Given the description of an element on the screen output the (x, y) to click on. 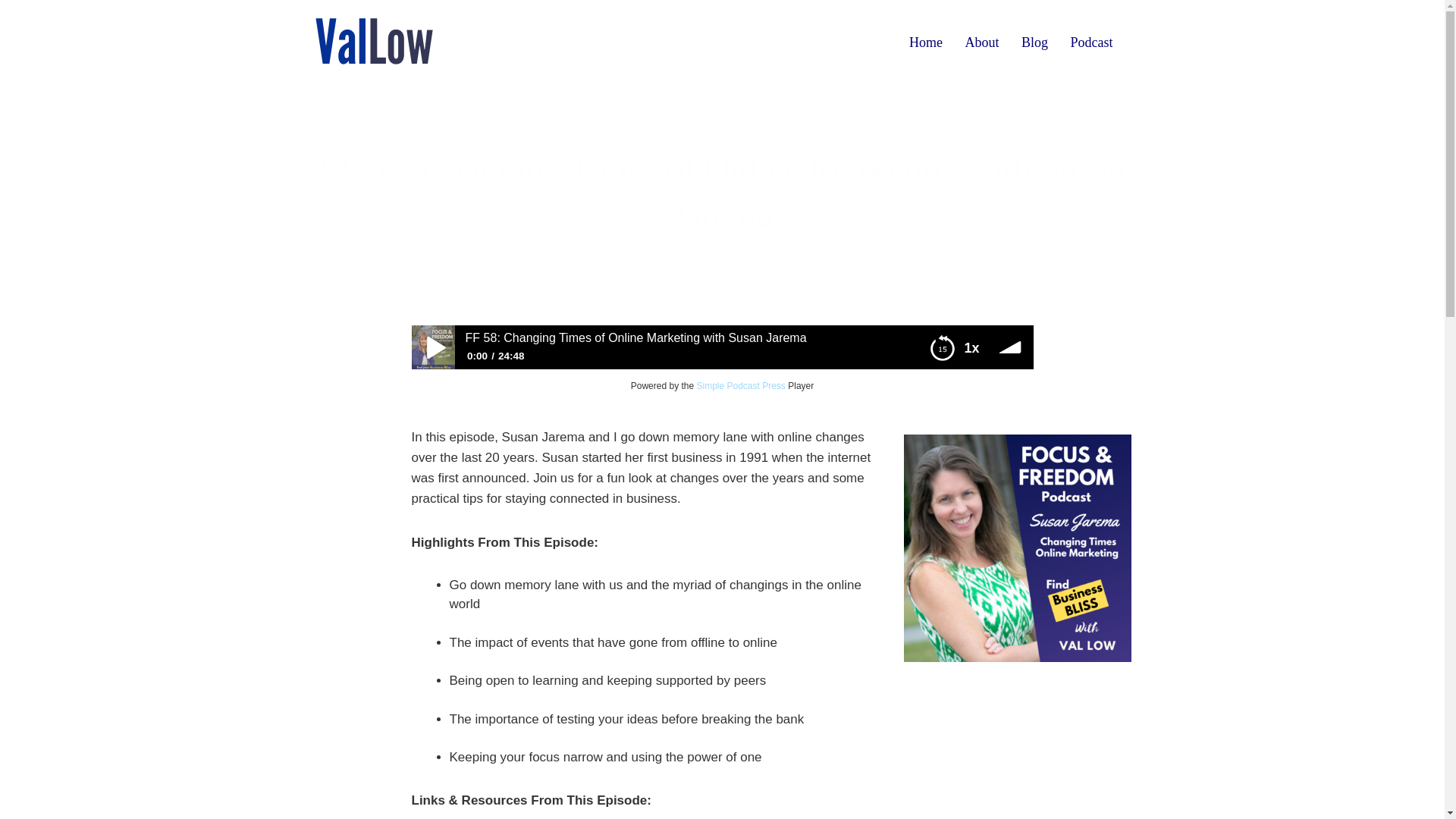
Blog (1035, 42)
About (980, 42)
Podcast (1091, 42)
Simple Podcast Press (739, 385)
Home (925, 42)
